Given the description of an element on the screen output the (x, y) to click on. 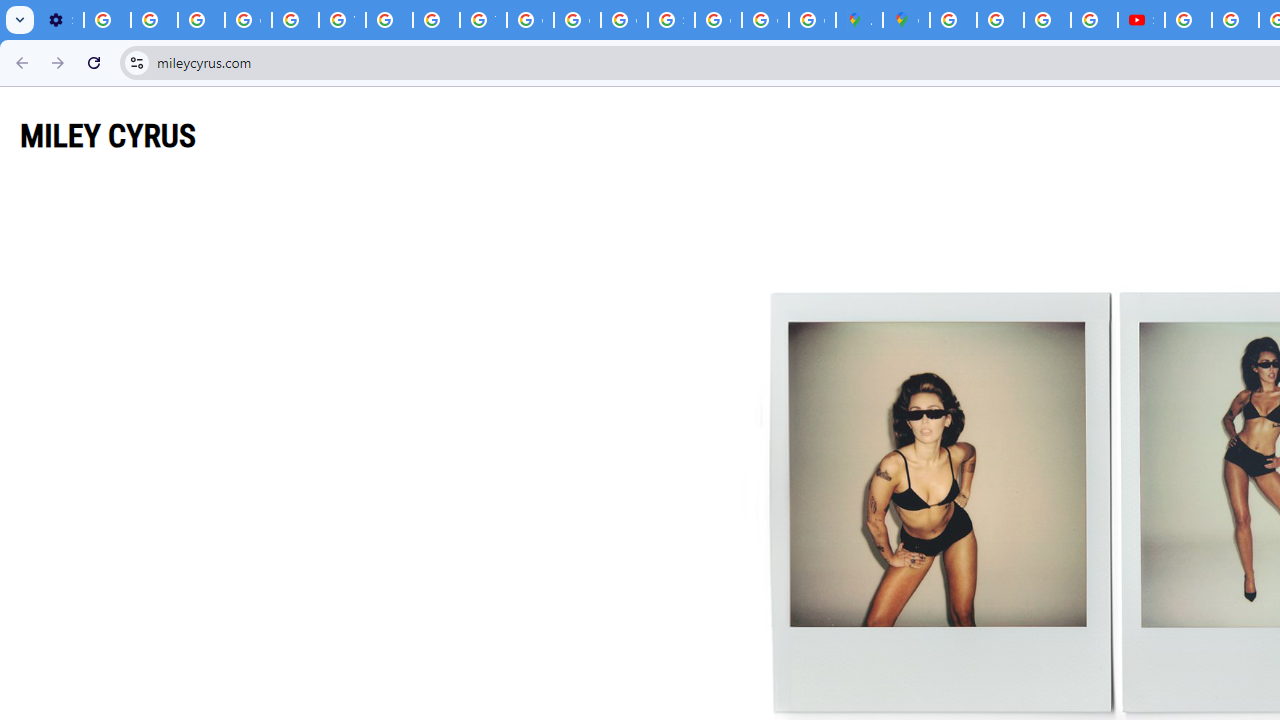
MILEY CYRUS (107, 135)
Blogger Policies and Guidelines - Transparency Center (953, 20)
